Given the description of an element on the screen output the (x, y) to click on. 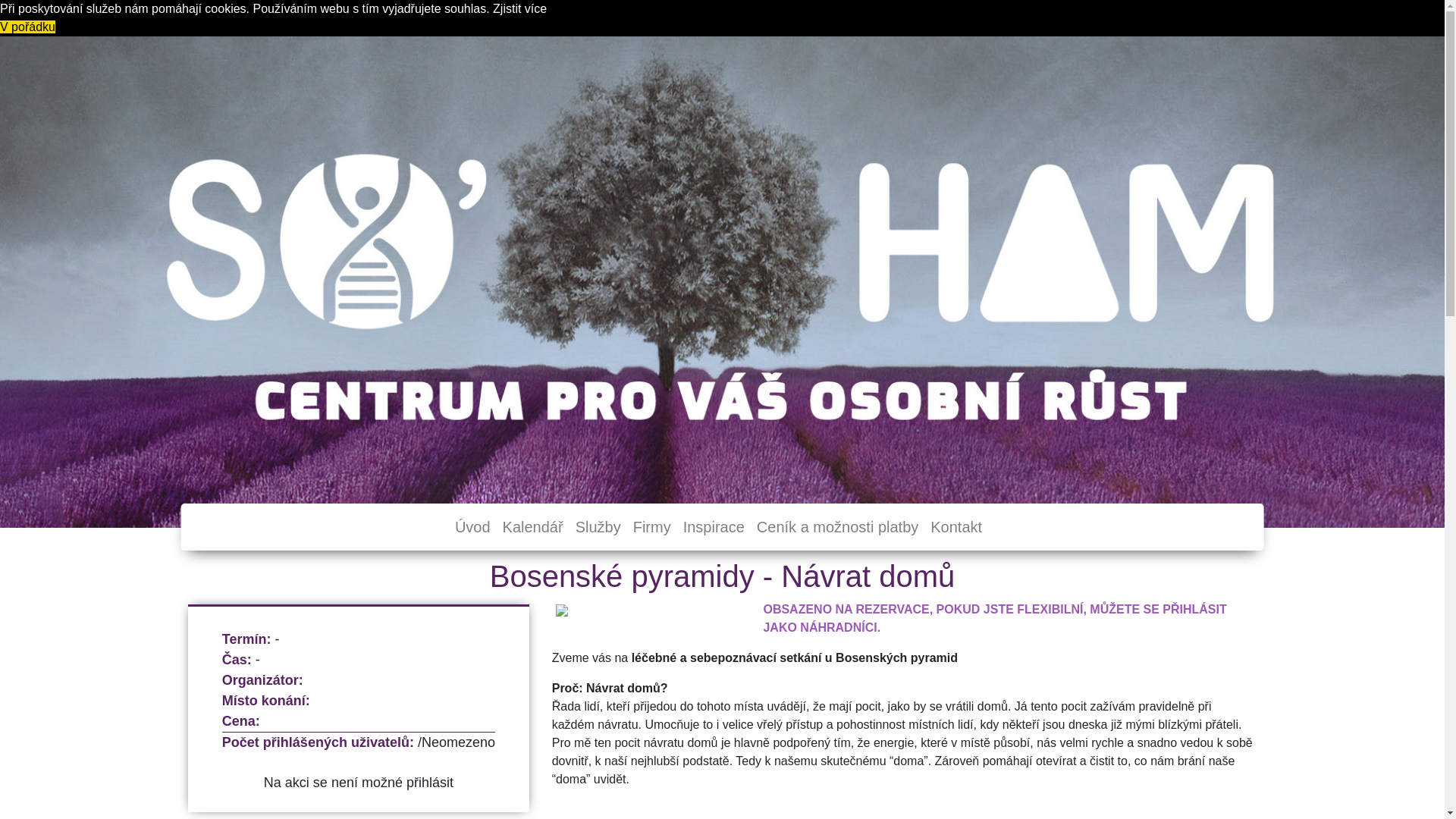
Kontakt Element type: text (956, 526)
Firmy Element type: text (652, 526)
Inspirace Element type: text (713, 526)
